Given the description of an element on the screen output the (x, y) to click on. 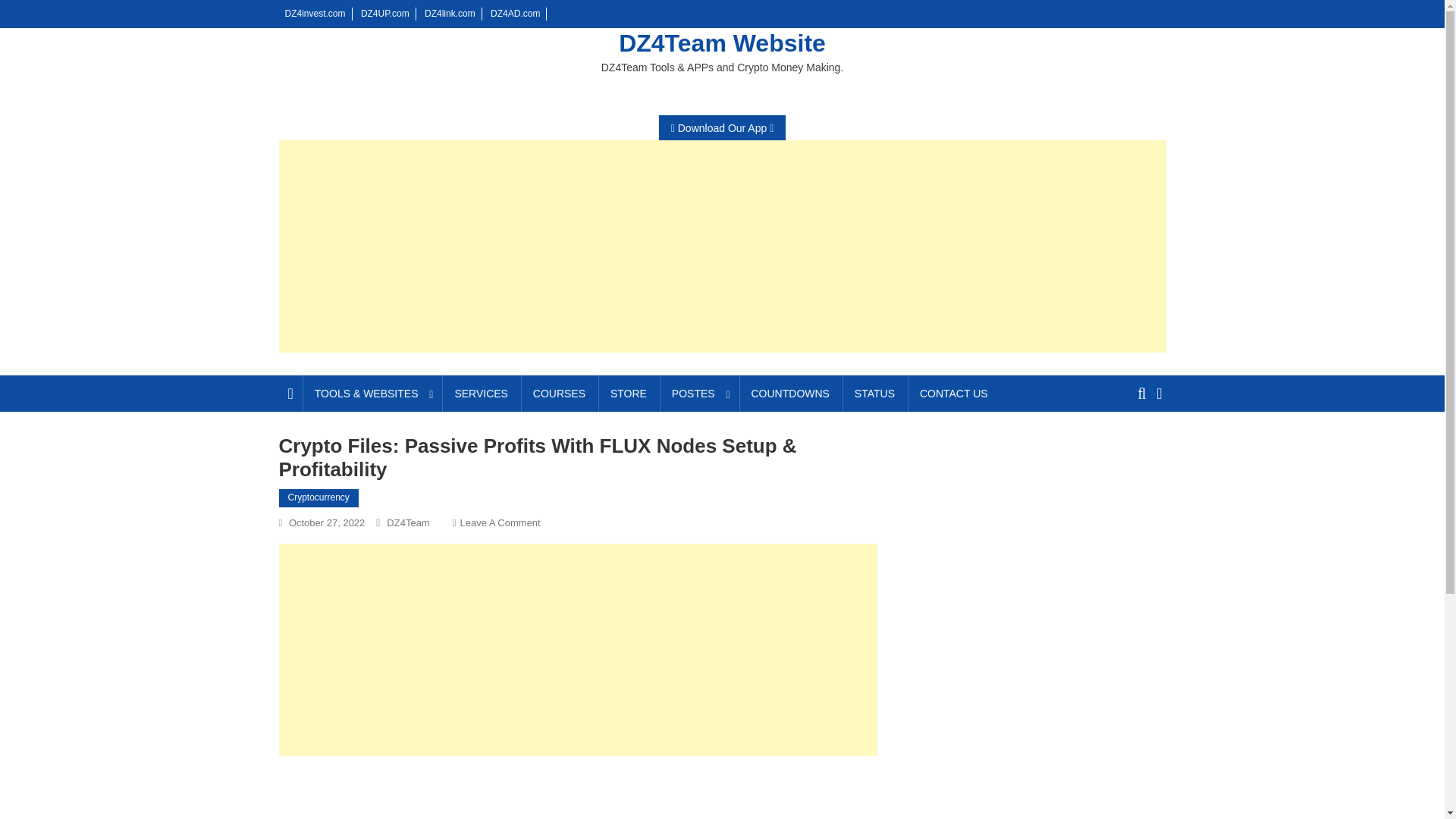
Advertisement (578, 649)
CONTACT US (953, 393)
Cryptocurrency (318, 497)
STORE (628, 393)
COURSES (558, 393)
DZ4Team (408, 522)
COUNTDOWNS (789, 393)
SERVICES (480, 393)
DZ4UP.com (385, 13)
Search (1133, 448)
